Given the description of an element on the screen output the (x, y) to click on. 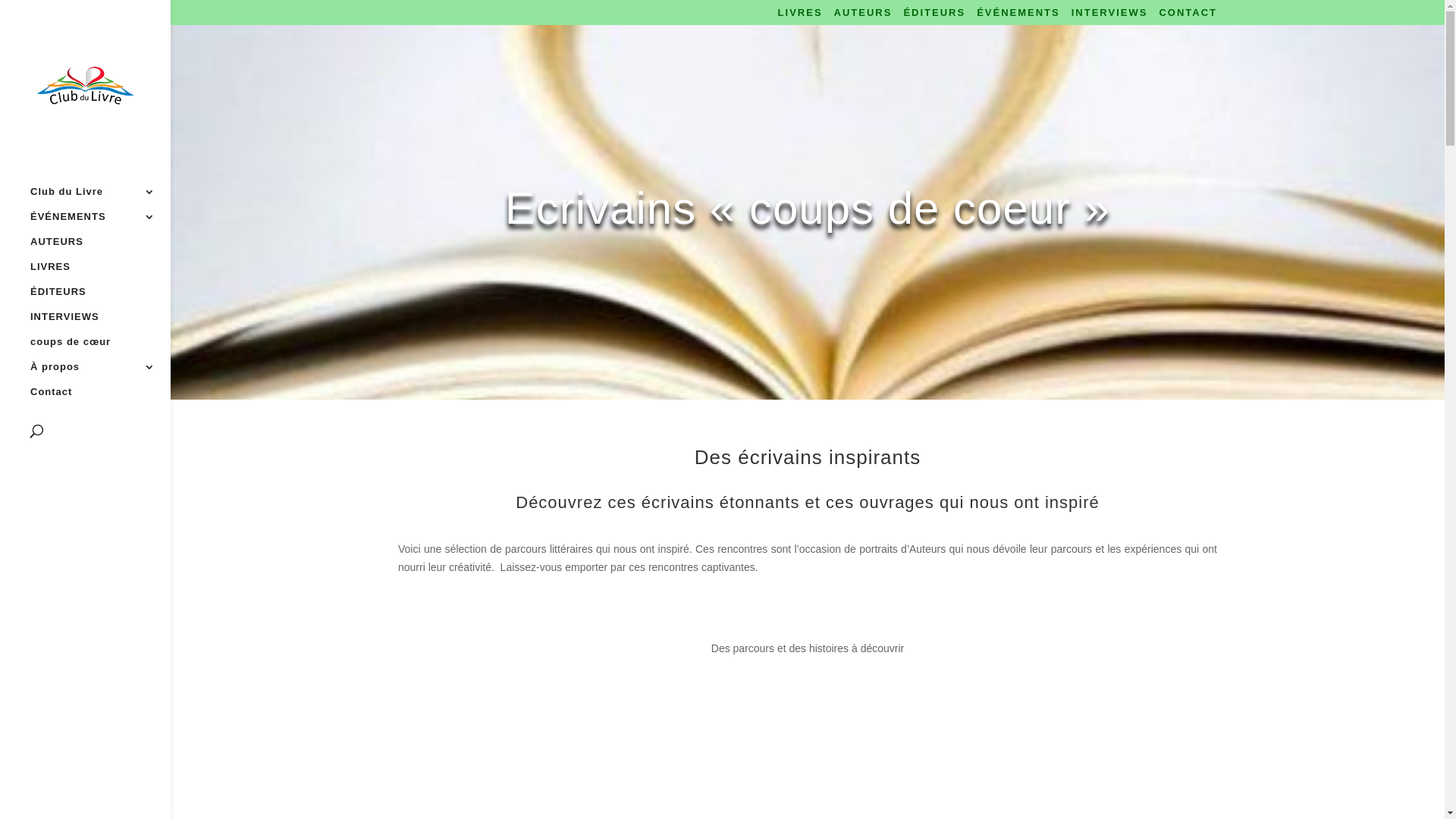
Contact Element type: text (100, 398)
INTERVIEWS Element type: text (100, 323)
AUTEURS Element type: text (863, 16)
AUTEURS Element type: text (100, 248)
INTERVIEWS Element type: text (1109, 16)
LIVRES Element type: text (800, 16)
LIVRES Element type: text (100, 273)
CONTACT Element type: text (1187, 16)
Club du Livre Element type: text (100, 198)
